Given the description of an element on the screen output the (x, y) to click on. 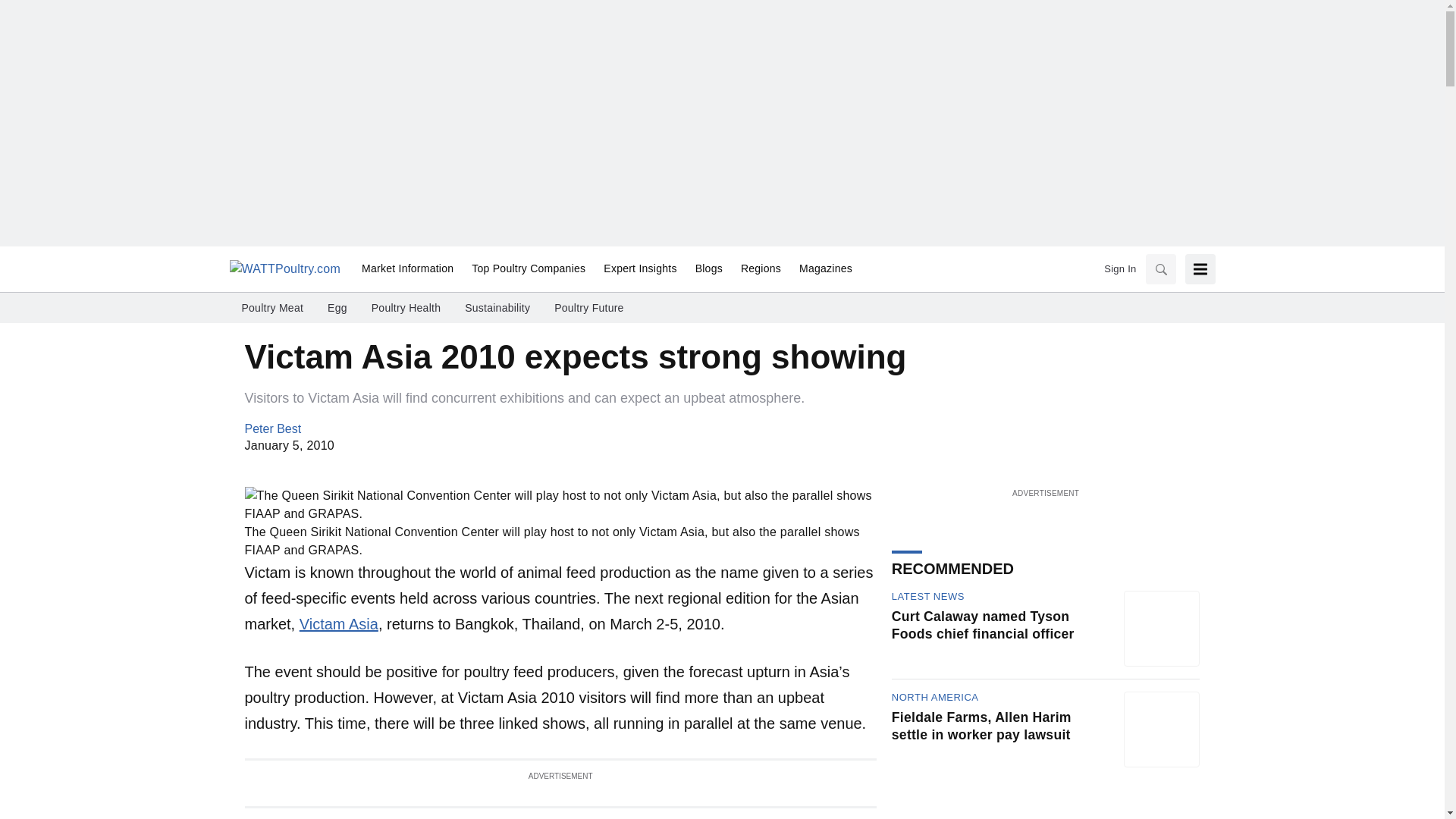
Latest News (927, 596)
Sign In (1119, 268)
Regions (761, 269)
Market Information (407, 269)
Egg (337, 307)
Blogs (708, 269)
Top Poultry Companies (528, 269)
Expert Insights (639, 269)
Poultry Health (406, 307)
Poultry Future (588, 307)
